Given the description of an element on the screen output the (x, y) to click on. 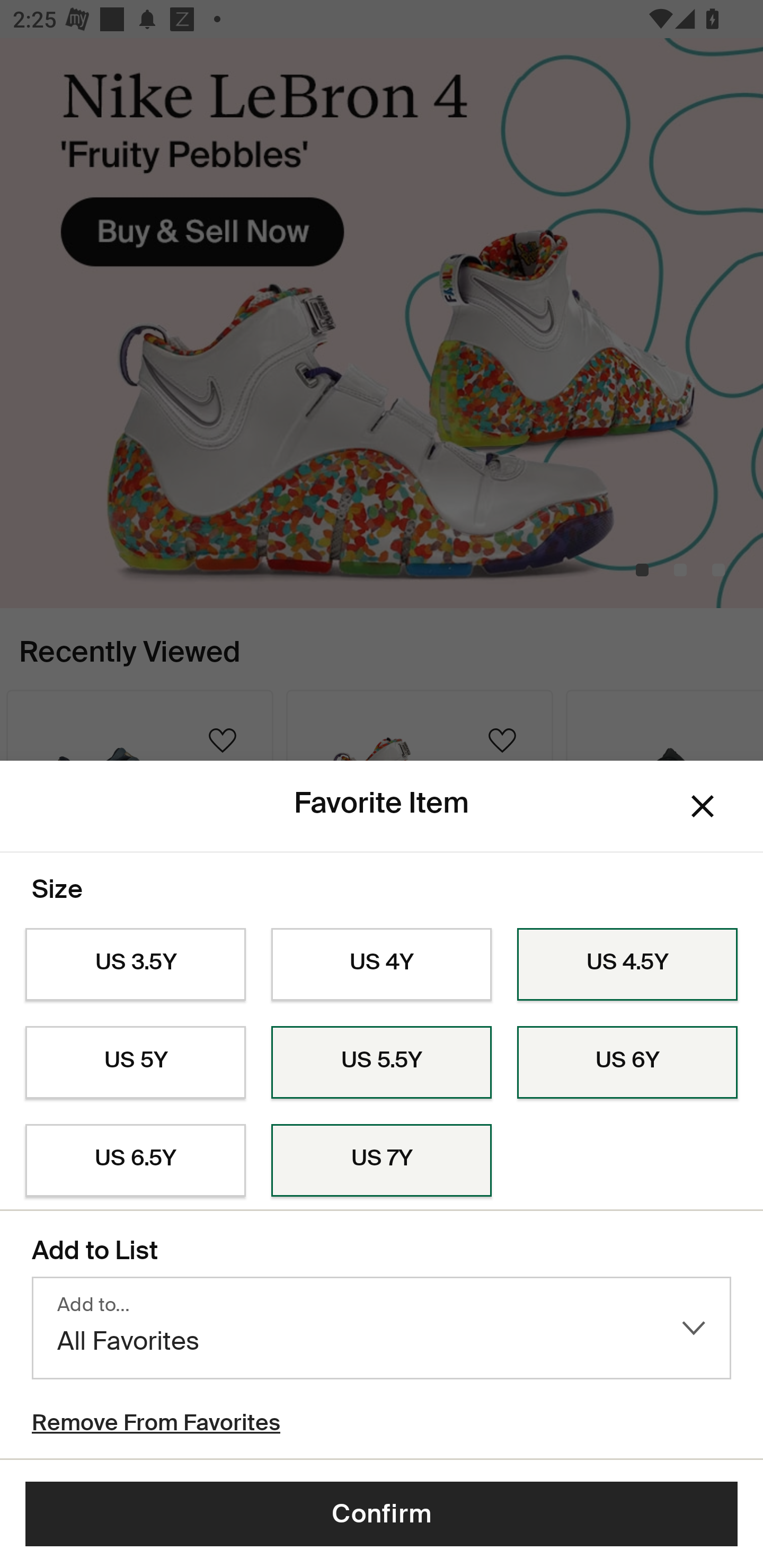
Dismiss (702, 806)
US 3.5Y (135, 964)
US 4Y (381, 964)
US 4.5Y (627, 964)
US 5Y (135, 1061)
US 5.5Y (381, 1061)
US 6Y (627, 1061)
US 6.5Y (135, 1160)
US 7Y (381, 1160)
Add to… All Favorites (381, 1327)
Remove From Favorites (156, 1424)
Confirm (381, 1513)
